Given the description of an element on the screen output the (x, y) to click on. 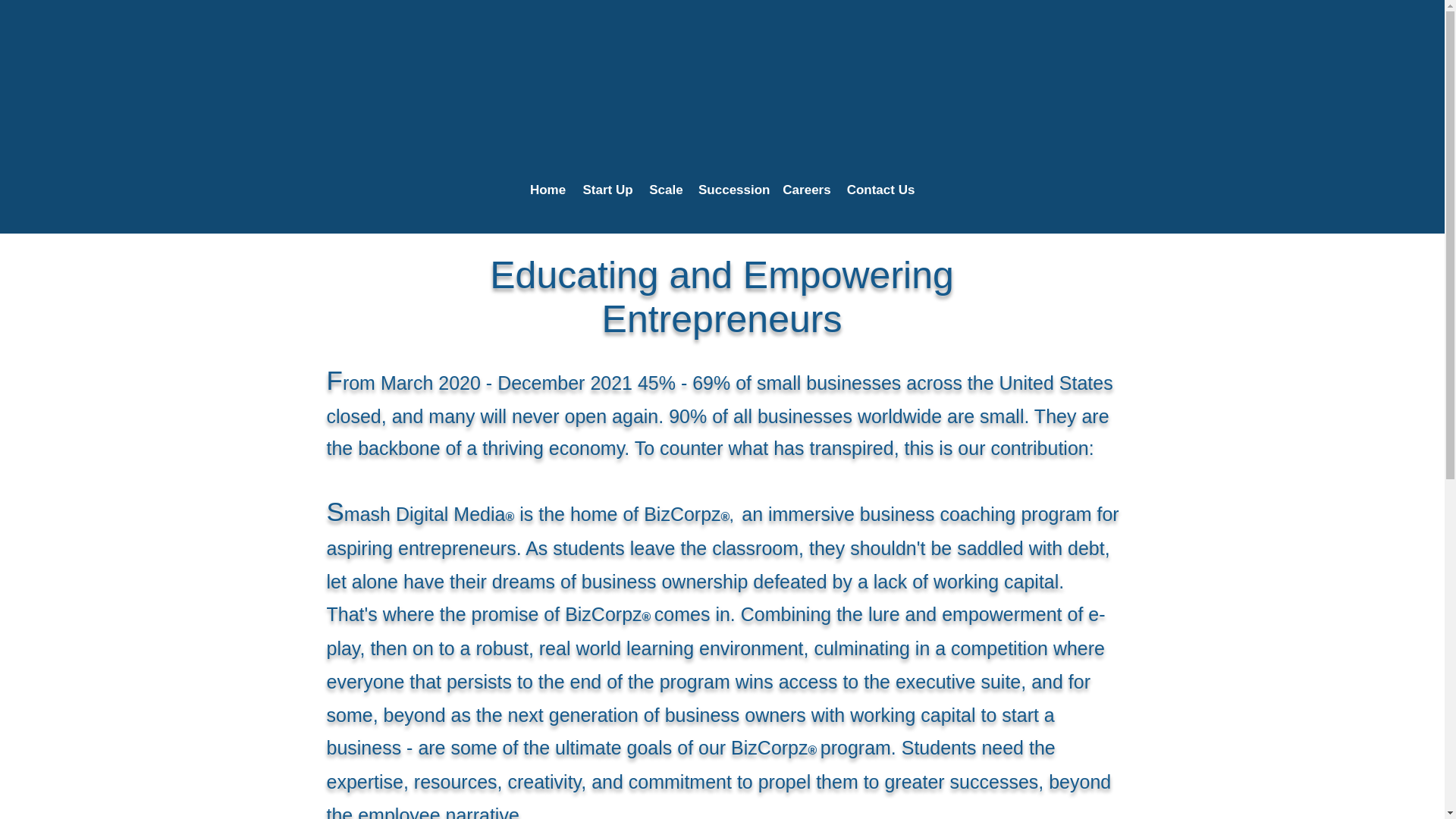
Careers (806, 190)
Contact Us (880, 190)
Start Up (607, 190)
Home (547, 190)
Scale (666, 190)
Succession (732, 190)
